Given the description of an element on the screen output the (x, y) to click on. 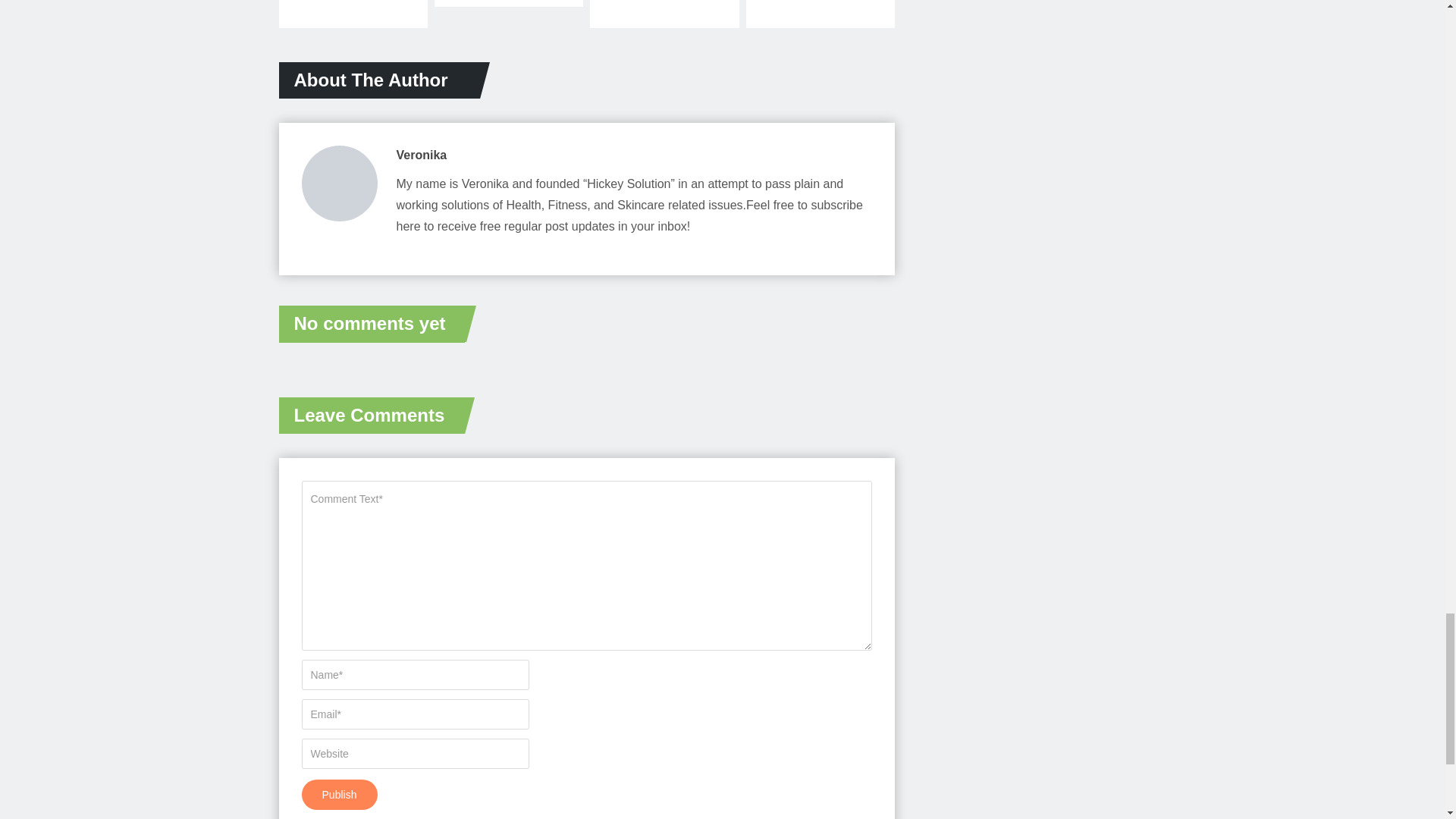
PMS symptoms: how long do they last? Are there any remedies? (820, 13)
Publish (339, 794)
Candidiasis: what is it and how to prevent it? (508, 3)
